Given the description of an element on the screen output the (x, y) to click on. 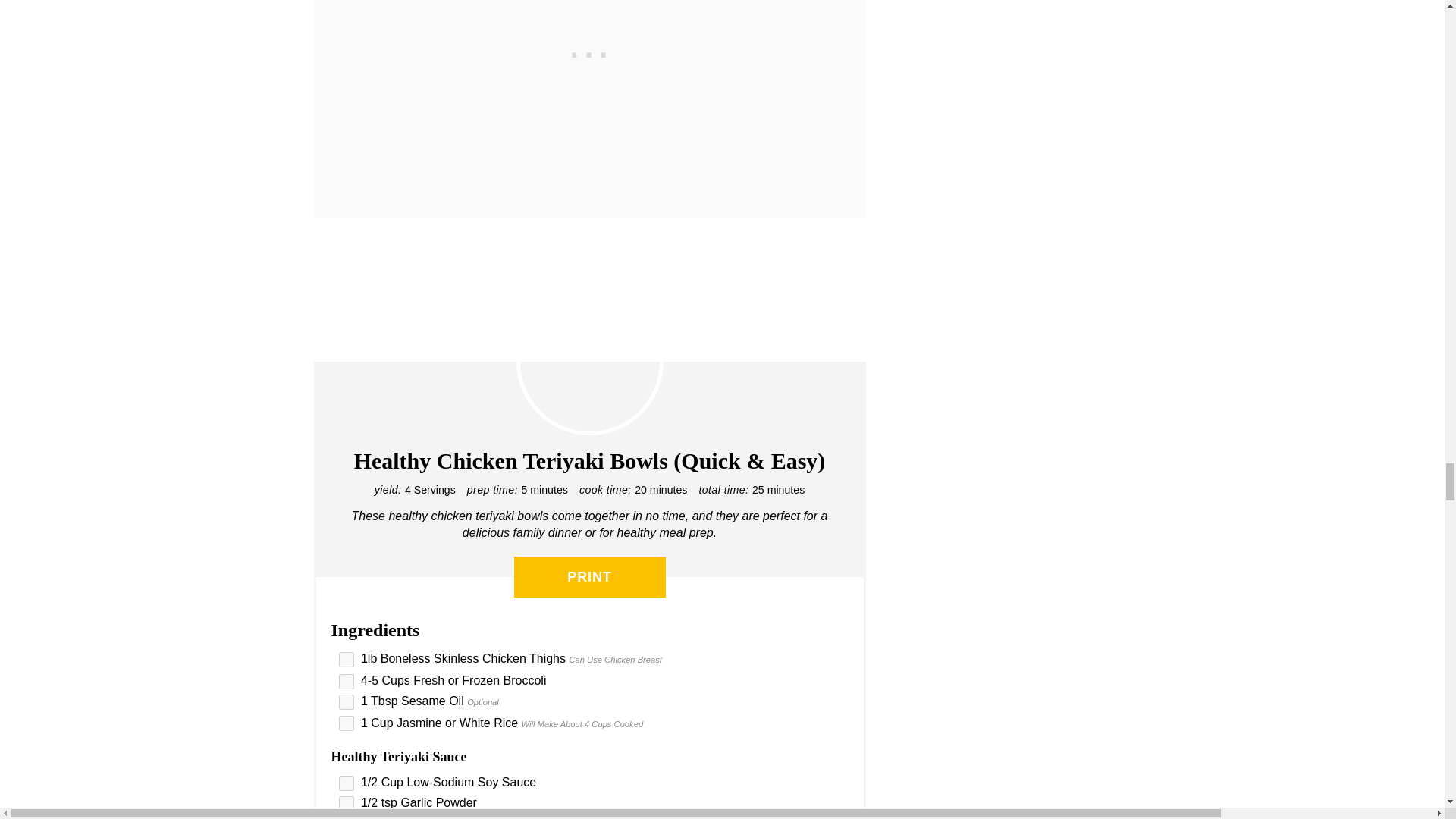
on (345, 803)
on (345, 659)
on (345, 783)
on (345, 702)
on (345, 723)
on (345, 680)
